Given the description of an element on the screen output the (x, y) to click on. 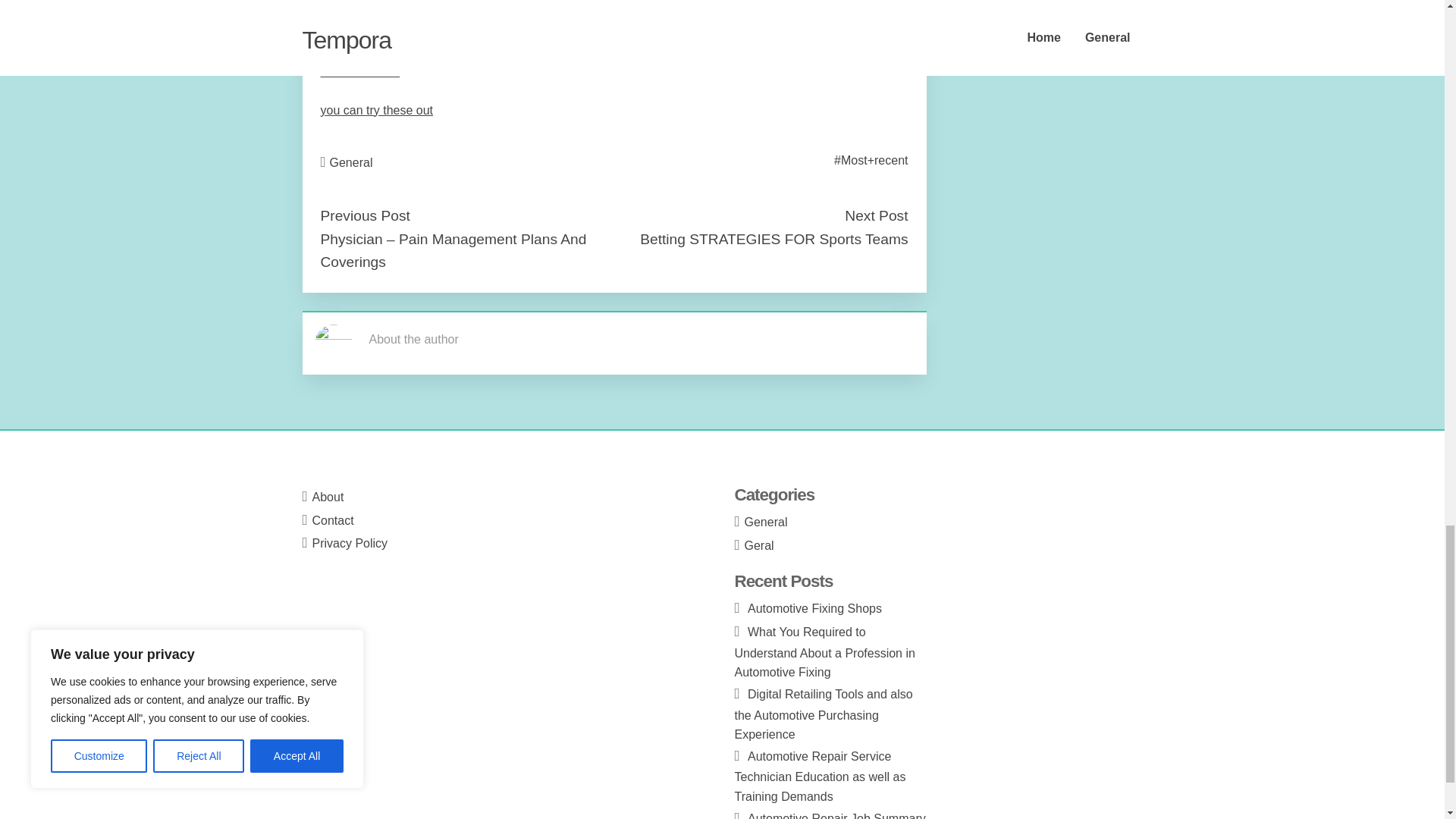
Next Post (875, 215)
General (351, 162)
you can try these out (376, 110)
Betting STRATEGIES FOR Sports Teams (773, 238)
Previous Post (364, 215)
Click That Link (359, 71)
Read the article (362, 32)
